Given the description of an element on the screen output the (x, y) to click on. 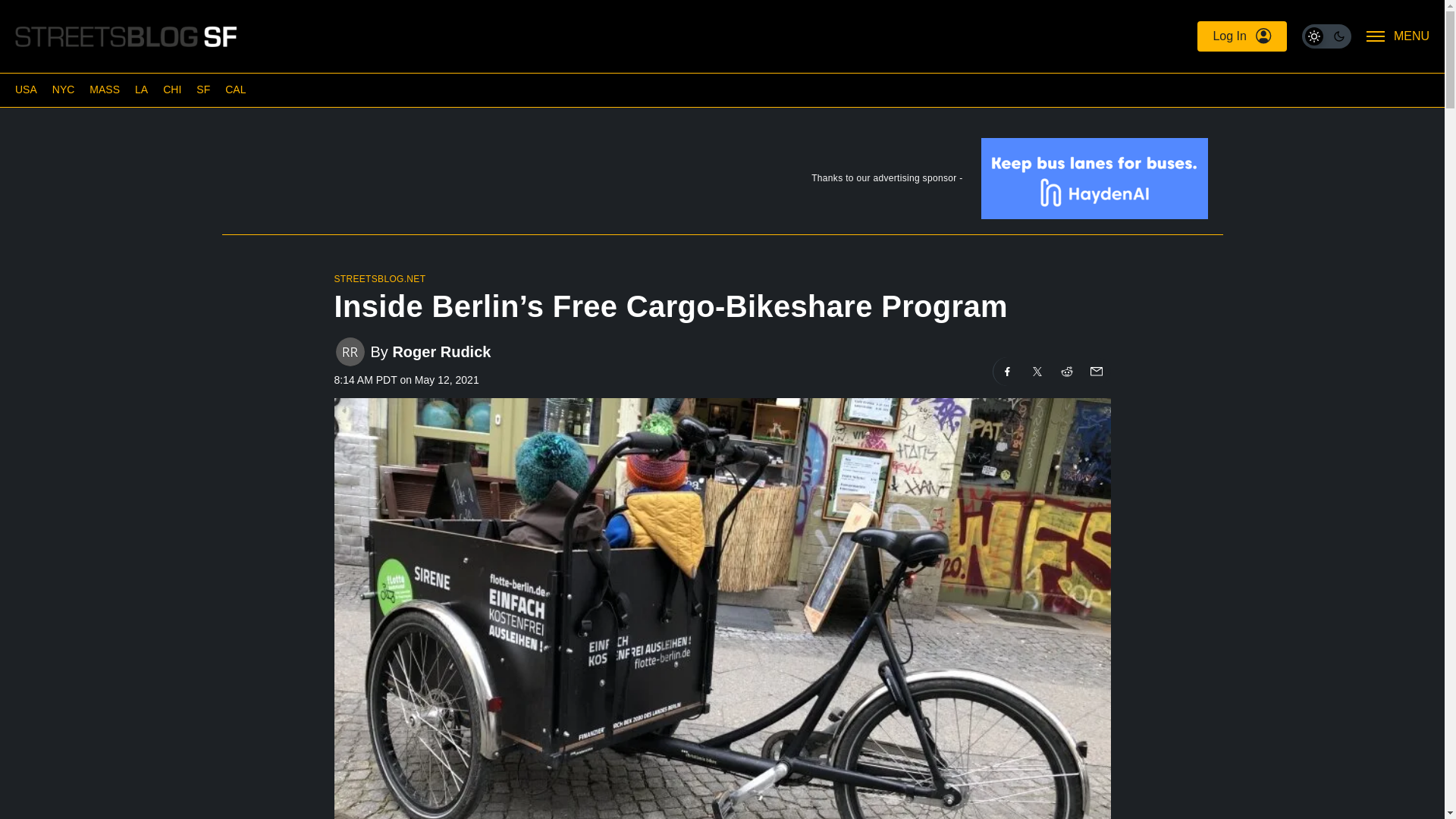
Thanks to our advertising sponsor - (721, 181)
NYC (63, 89)
MENU (1398, 36)
Log In (1240, 36)
CAL (235, 89)
STREETSBLOG.NET (379, 278)
LA (141, 89)
Share on Email (1095, 371)
MASS (103, 89)
SF (202, 89)
Share on Reddit (1066, 371)
Roger Rudick (440, 351)
Share on Facebook (1007, 371)
CHI (171, 89)
USA (25, 89)
